Given the description of an element on the screen output the (x, y) to click on. 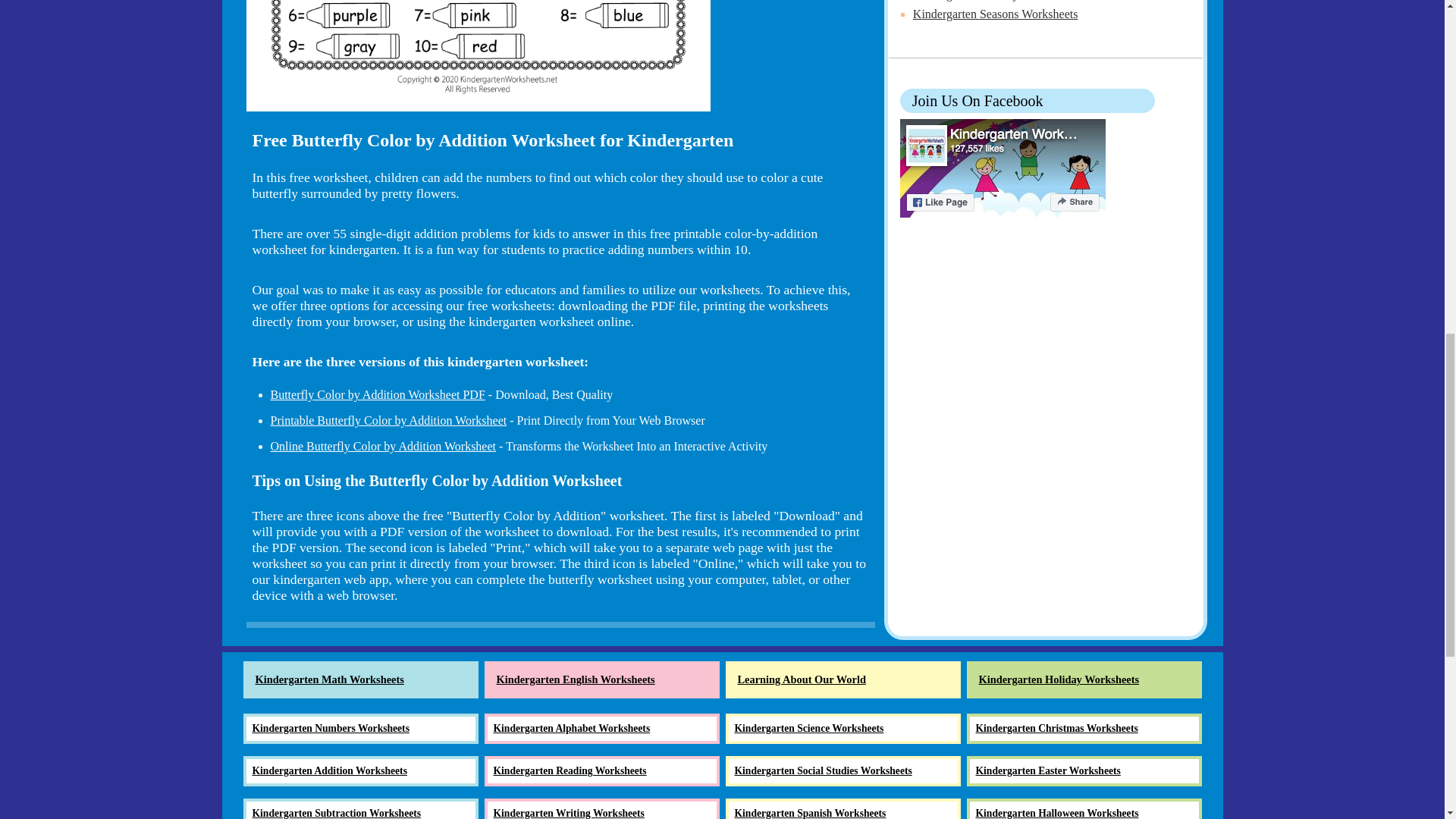
Kindergarten Seasons Worksheets (995, 13)
Butterfly Color by Addition Worksheet PDF (376, 394)
Online Butterfly Color by Addition Worksheet (382, 445)
Kindergarten Math Worksheets (360, 679)
Printable Butterfly Color by Addition Worksheet (387, 420)
